Given the description of an element on the screen output the (x, y) to click on. 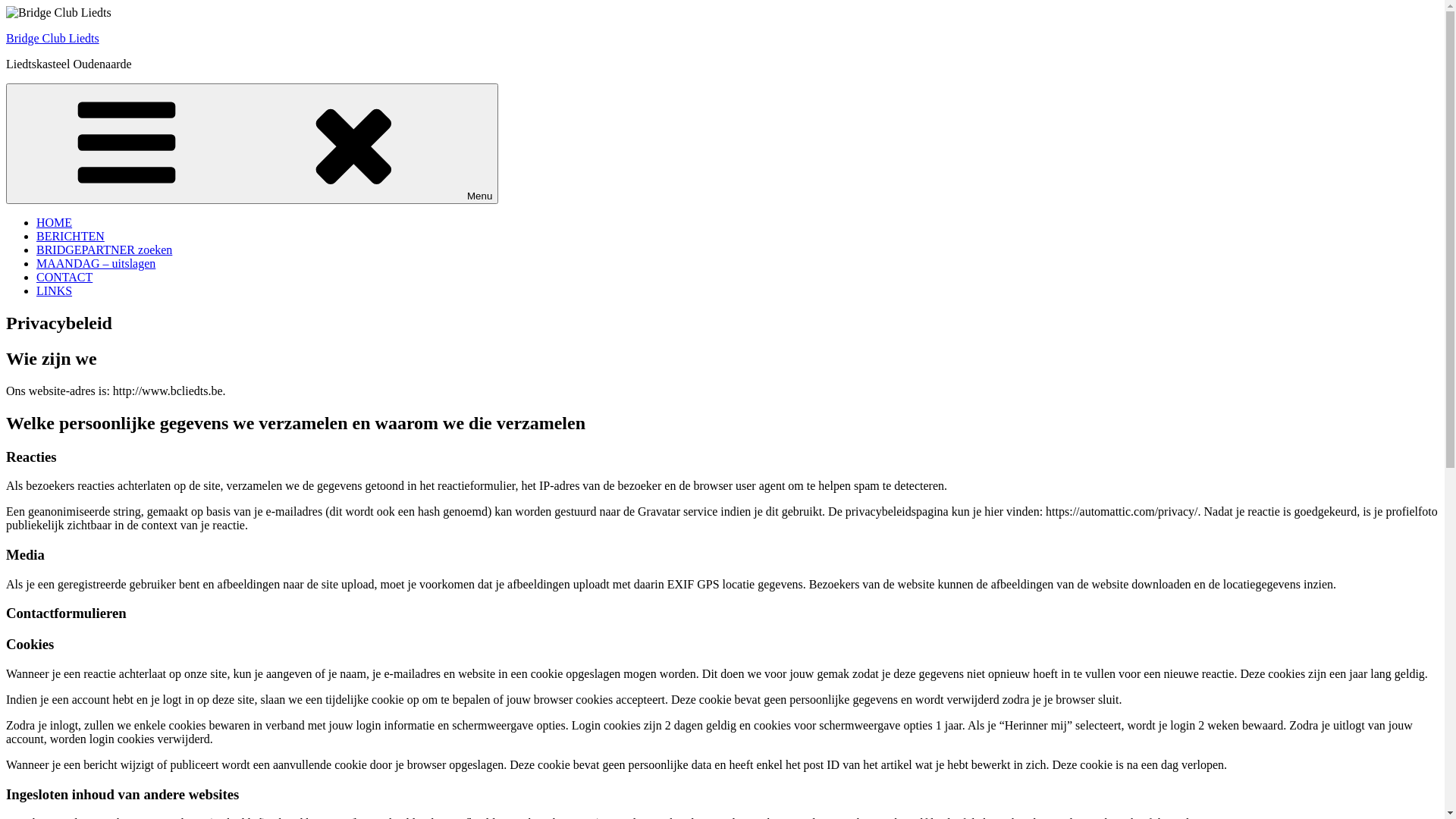
HOME Element type: text (54, 222)
Naar de inhoud springen Element type: text (5, 5)
BERICHTEN Element type: text (70, 235)
Bridge Club Liedts Element type: text (52, 37)
CONTACT Element type: text (64, 276)
LINKS Element type: text (54, 290)
Menu Element type: text (252, 143)
BRIDGEPARTNER zoeken Element type: text (104, 249)
